Given the description of an element on the screen output the (x, y) to click on. 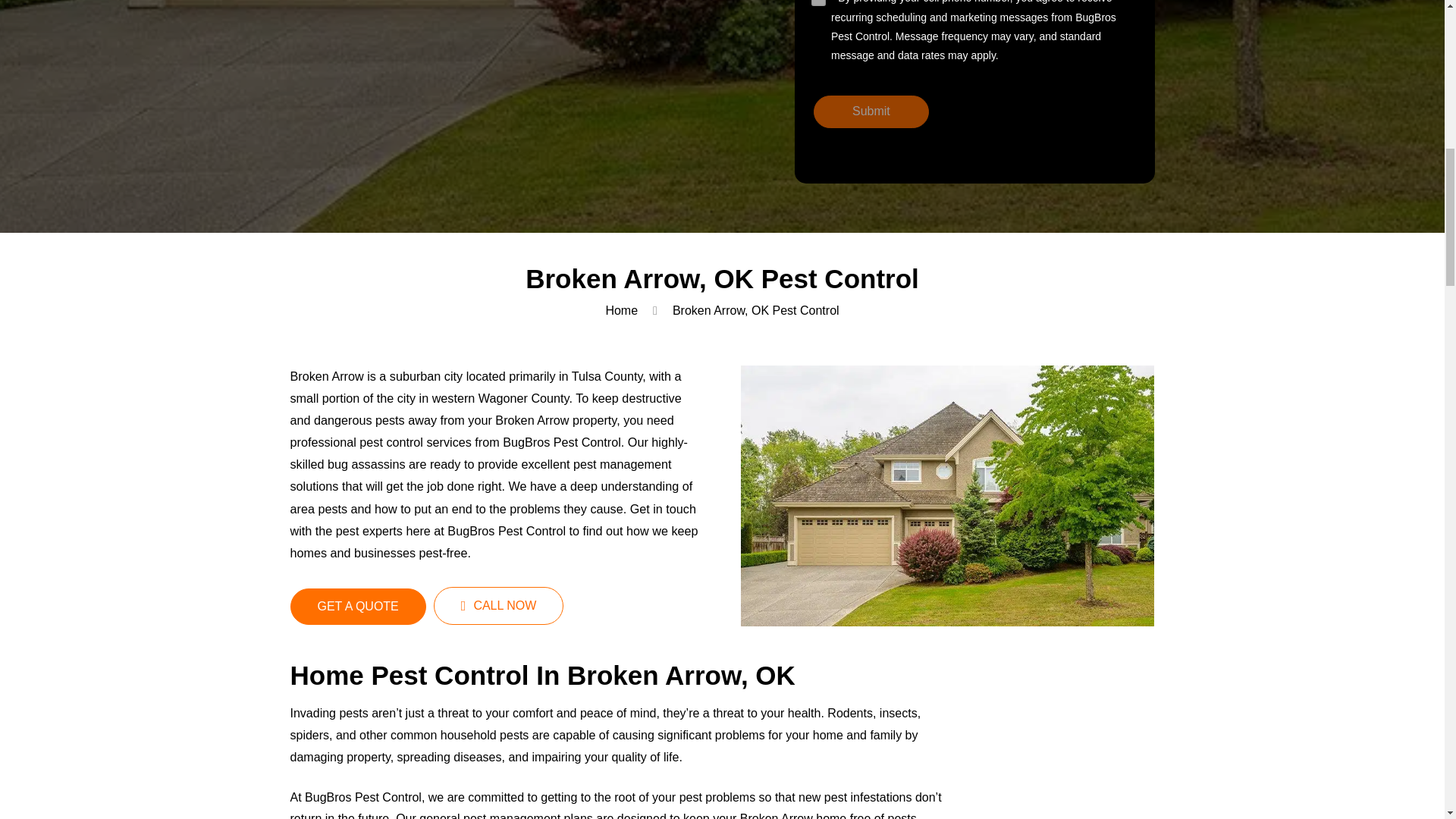
CALL NOW (498, 605)
You Are Here (756, 311)
GET A QUOTE (357, 606)
Submit (870, 111)
Home (621, 311)
Submit (870, 111)
Broken Arrow, OK Pest Control (756, 311)
